Given the description of an element on the screen output the (x, y) to click on. 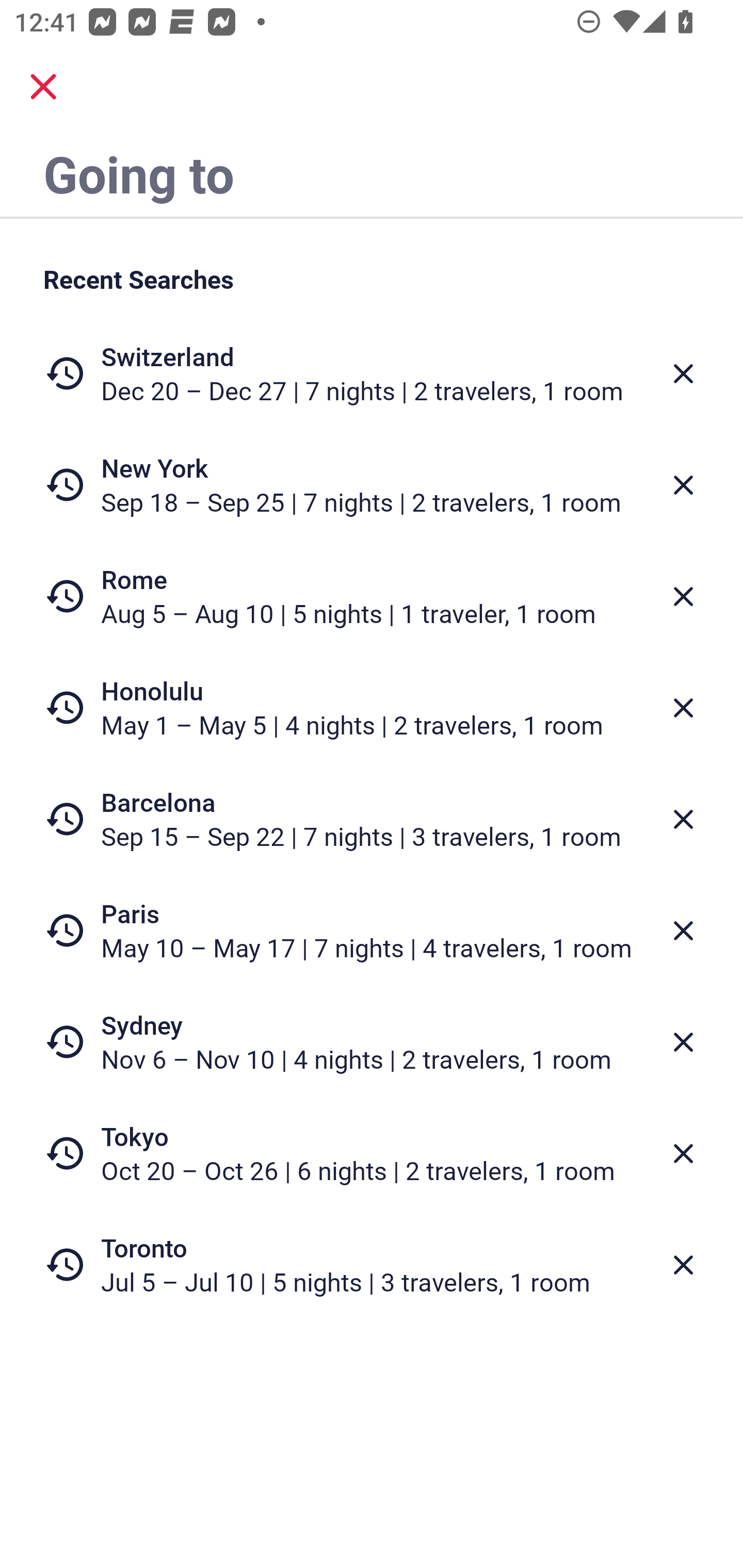
close. (43, 86)
Delete from recent searches (683, 373)
Delete from recent searches (683, 485)
Delete from recent searches (683, 596)
Delete from recent searches (683, 707)
Delete from recent searches (683, 819)
Delete from recent searches (683, 930)
Delete from recent searches (683, 1041)
Delete from recent searches (683, 1153)
Delete from recent searches (683, 1265)
